Given the description of an element on the screen output the (x, y) to click on. 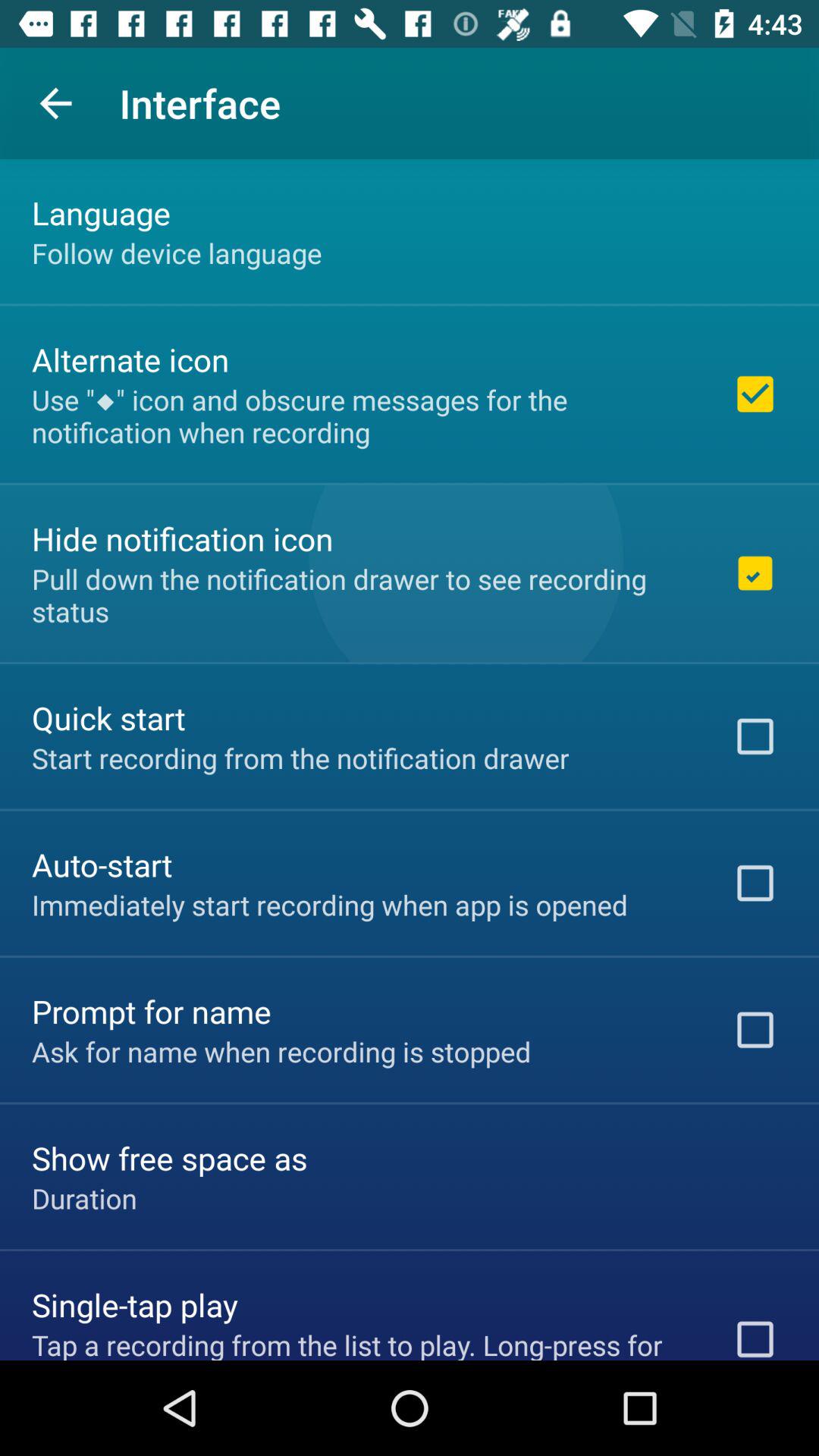
select the follow device language item (176, 252)
